Given the description of an element on the screen output the (x, y) to click on. 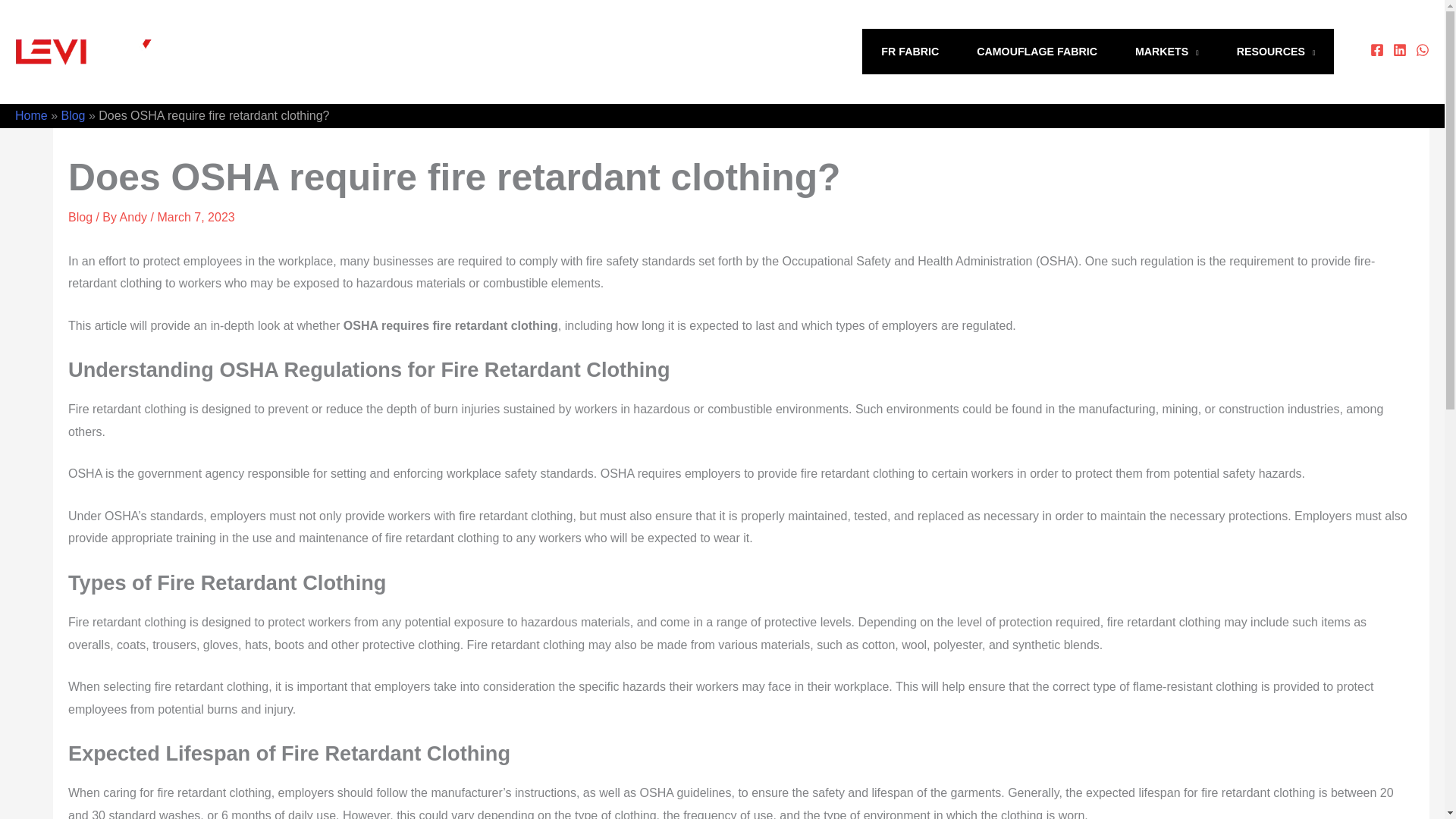
CAMOUFLAGE FABRIC (1037, 51)
Home (31, 115)
Blog (72, 115)
FR FABRIC (909, 51)
View all posts by Andy (135, 216)
RESOURCES (1276, 51)
MARKETS (1166, 51)
